Given the description of an element on the screen output the (x, y) to click on. 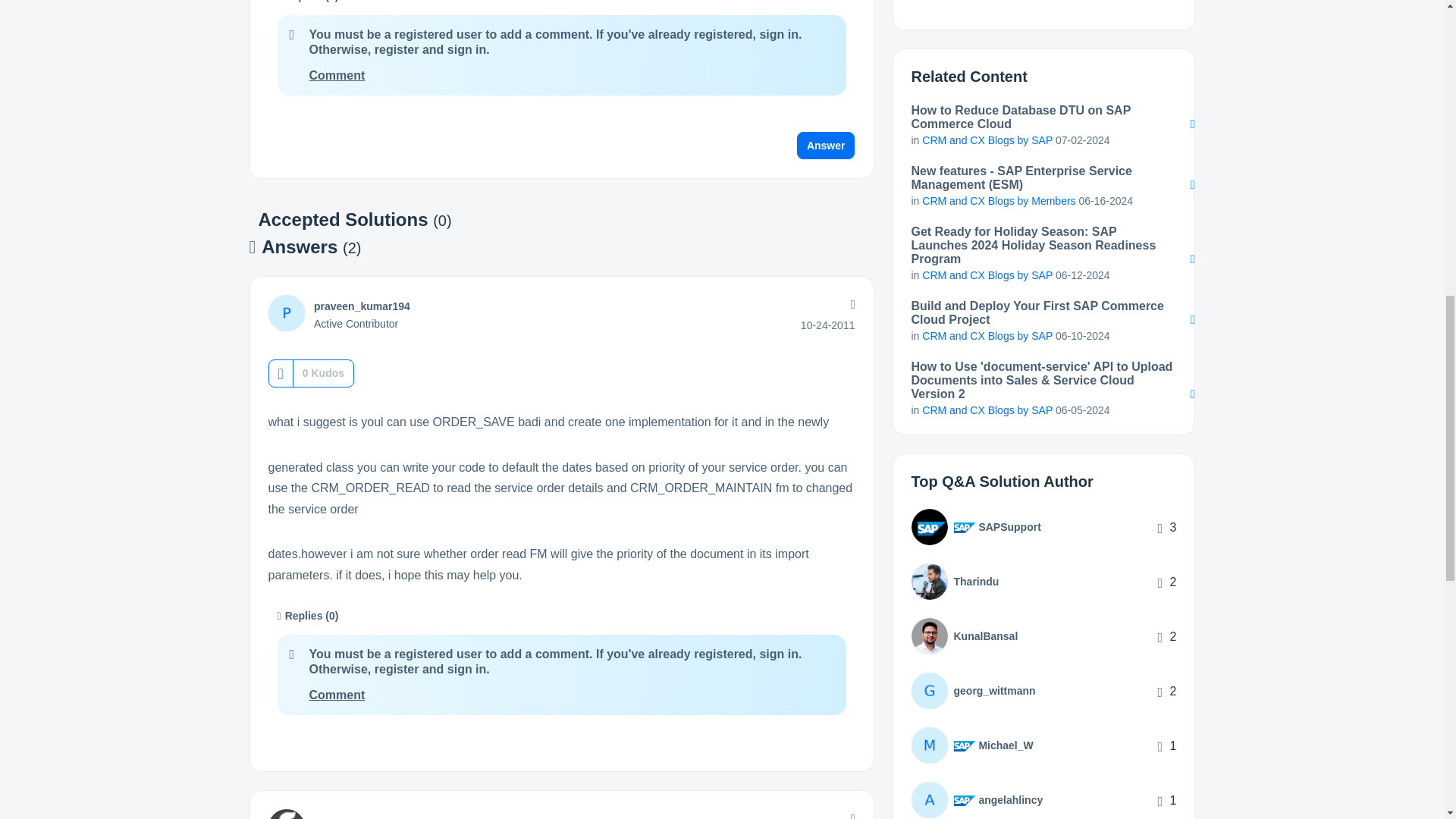
Posted on (828, 325)
Comment (336, 74)
Answer (826, 144)
